Given the description of an element on the screen output the (x, y) to click on. 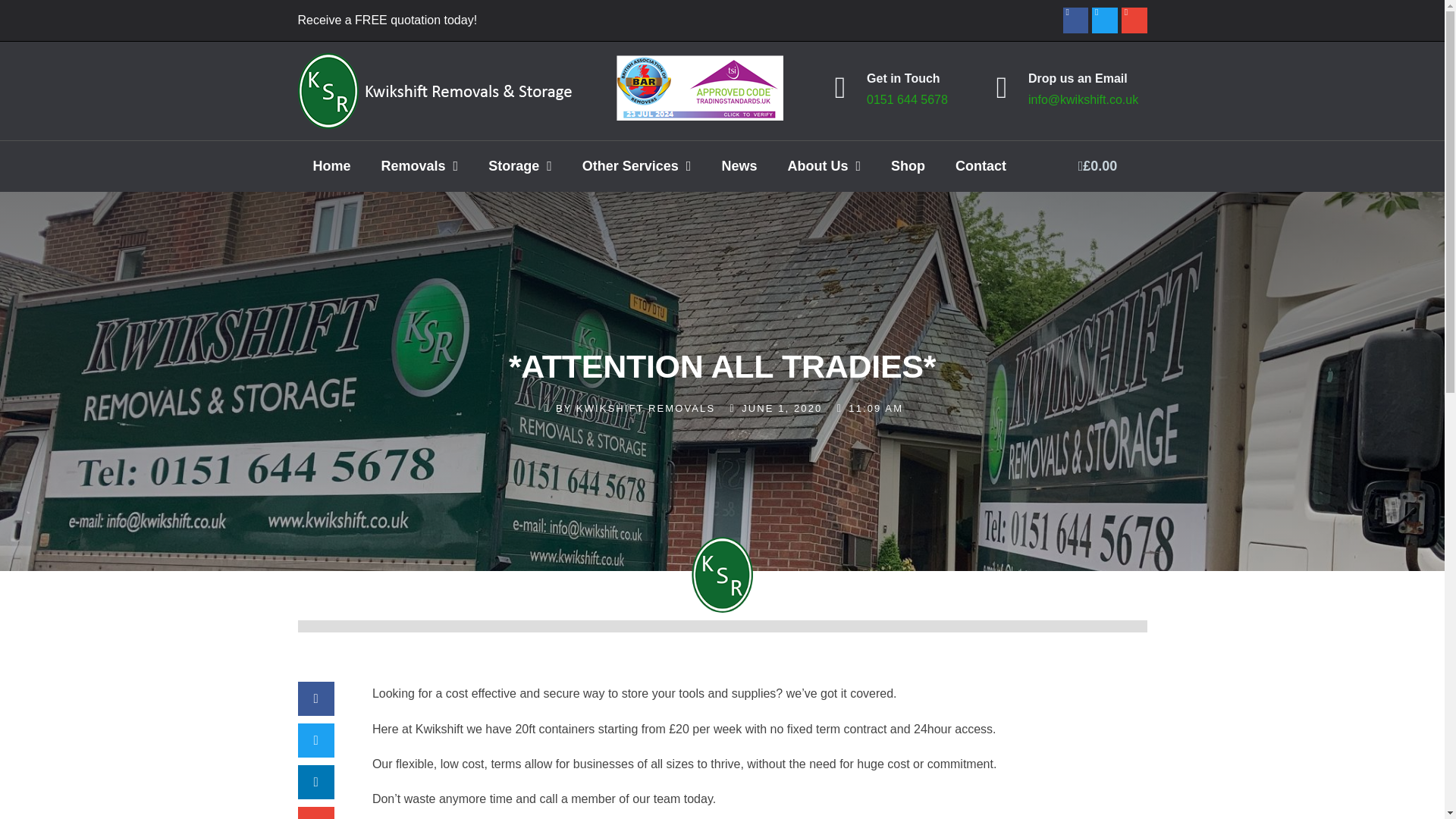
Storage (520, 166)
Removals (420, 166)
Get in Touch (903, 78)
Receive a FREE quotation today! (387, 19)
Home (331, 166)
About Us (823, 166)
0151 644 5678 (906, 99)
News (738, 166)
Contact (981, 166)
Other Services (636, 166)
Shop (908, 166)
Drop us an Email (1076, 78)
